Given the description of an element on the screen output the (x, y) to click on. 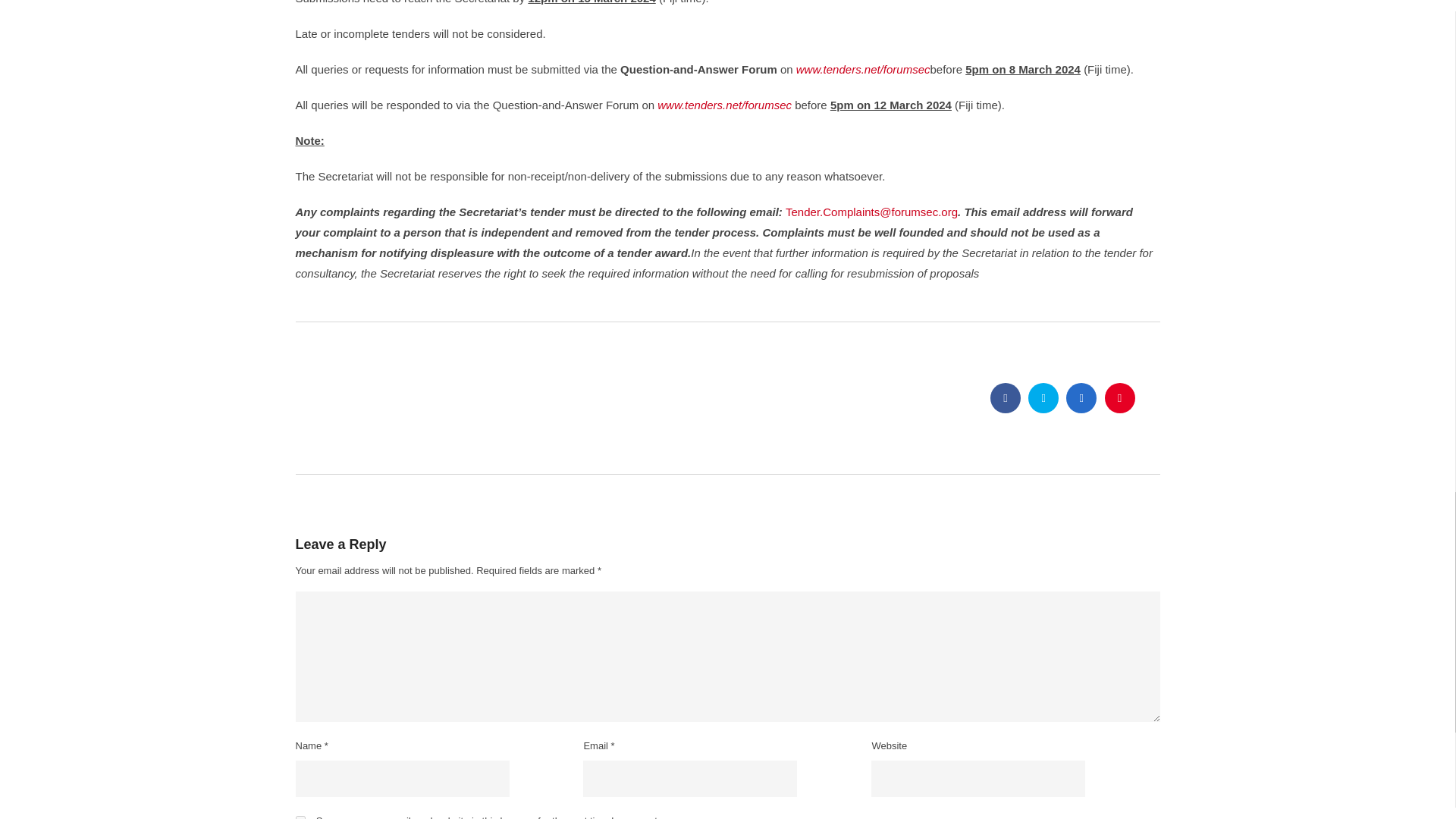
yes (300, 817)
